Given the description of an element on the screen output the (x, y) to click on. 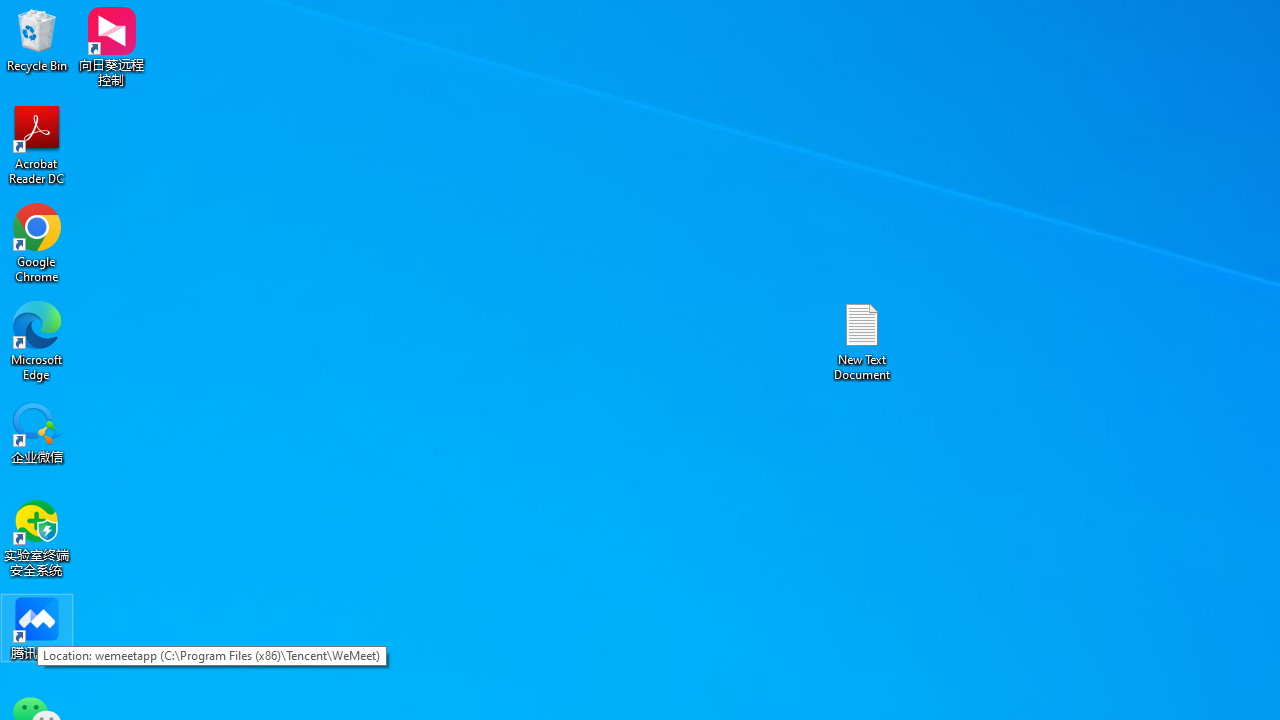
Google Chrome (37, 242)
Microsoft Edge (37, 340)
Acrobat Reader DC (37, 144)
New Text Document (861, 340)
Recycle Bin (37, 39)
